Given the description of an element on the screen output the (x, y) to click on. 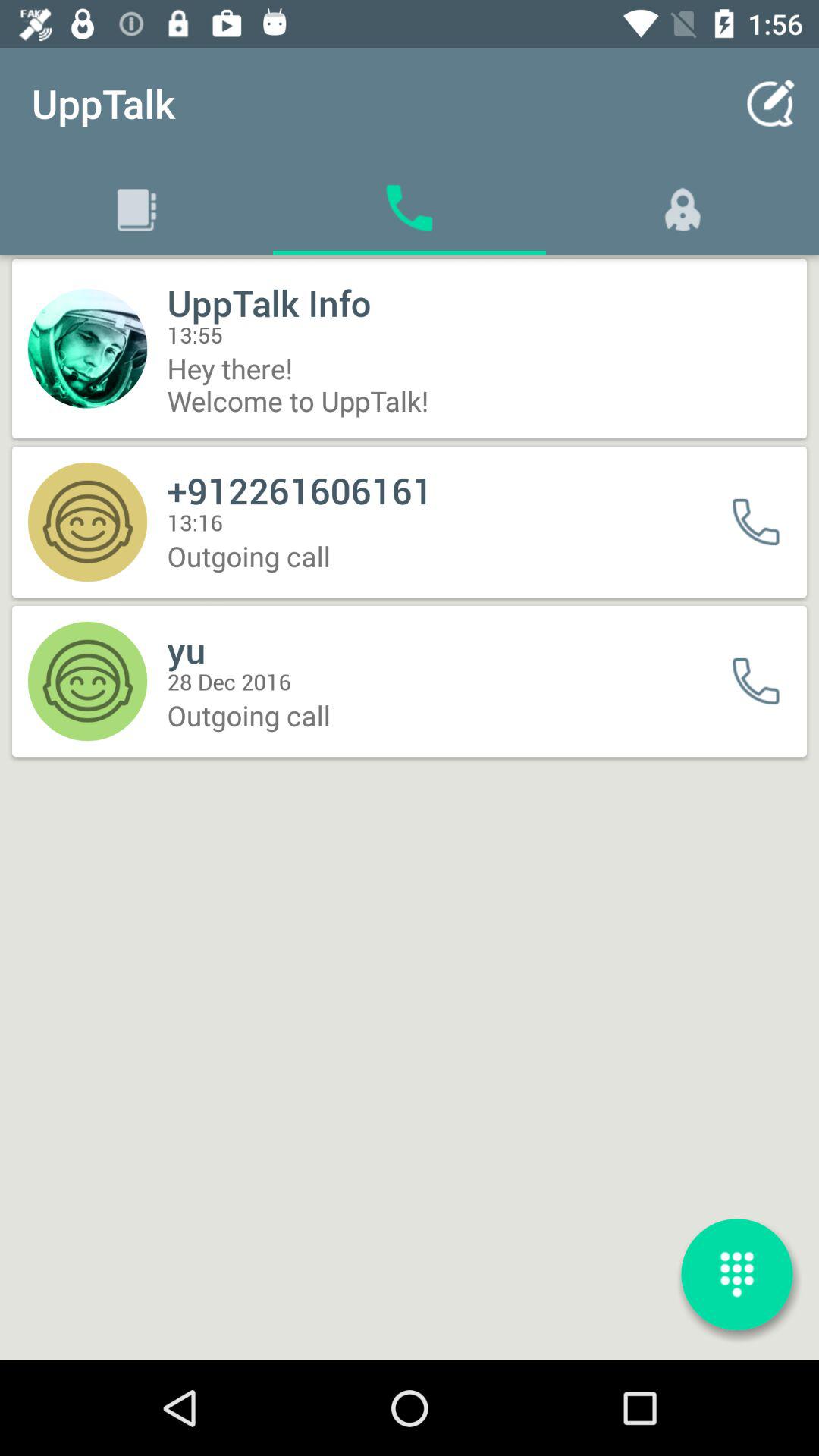
choose icon at the bottom right corner (737, 1274)
